Given the description of an element on the screen output the (x, y) to click on. 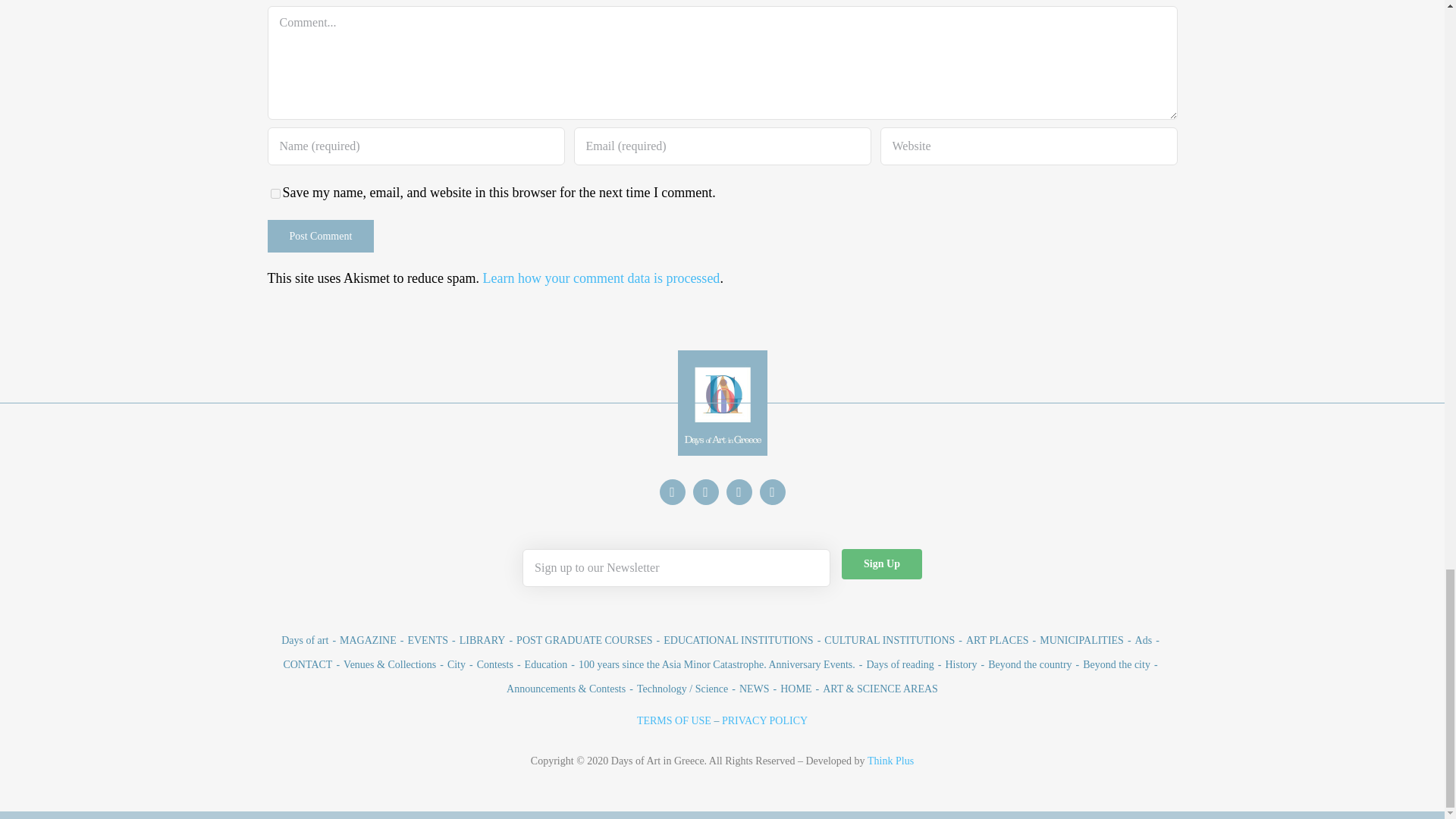
yes (274, 194)
Post Comment (320, 236)
Sign Up (881, 563)
